Given the description of an element on the screen output the (x, y) to click on. 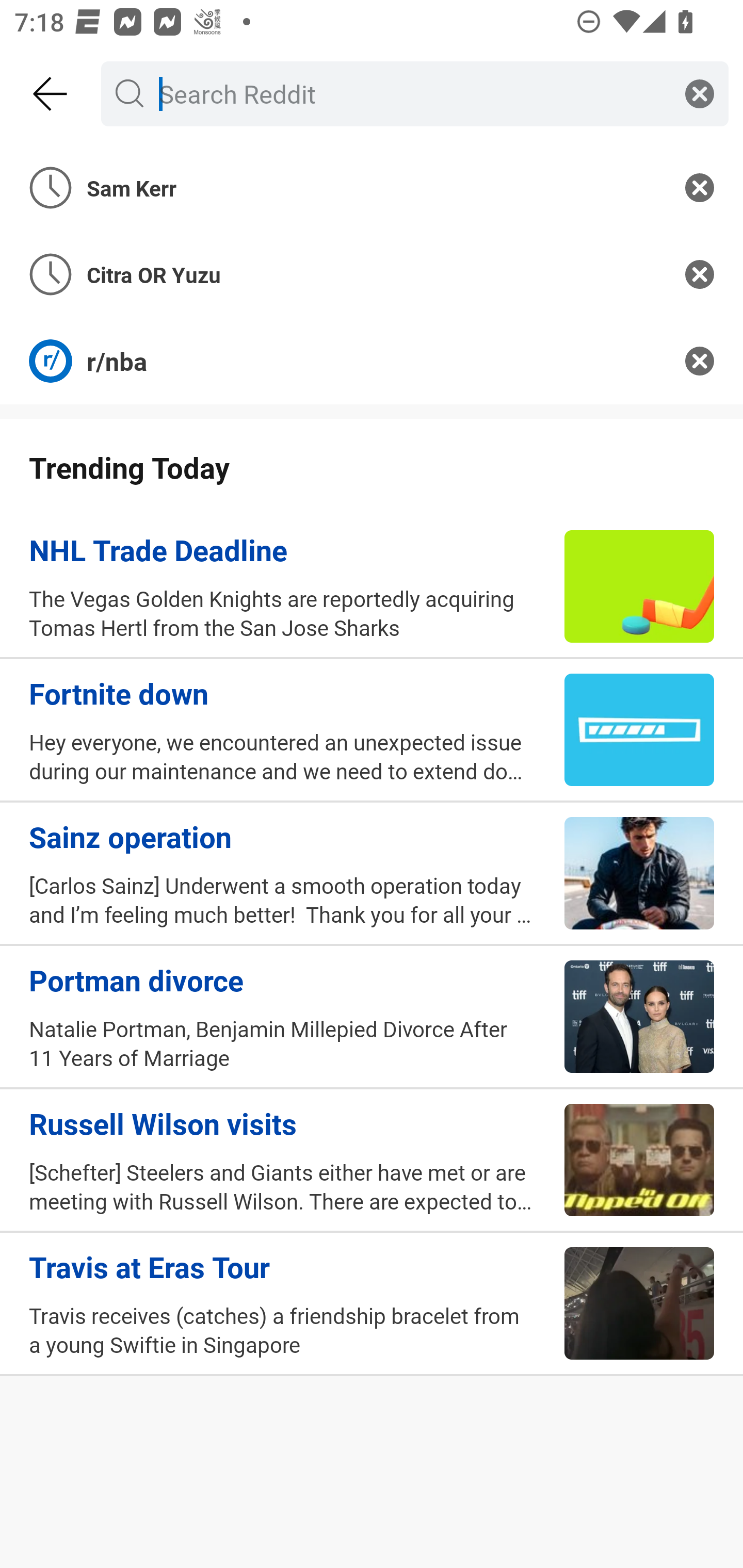
Back (50, 93)
Search Reddit (410, 93)
Clear search (699, 93)
Sam Kerr Recent search: Sam Kerr Remove (371, 187)
Remove (699, 187)
Citra OR Yuzu Recent search: Citra OR Yuzu Remove (371, 274)
Remove (699, 274)
r/nba Recent search: r/nba Remove (371, 361)
Remove (699, 361)
